Given the description of an element on the screen output the (x, y) to click on. 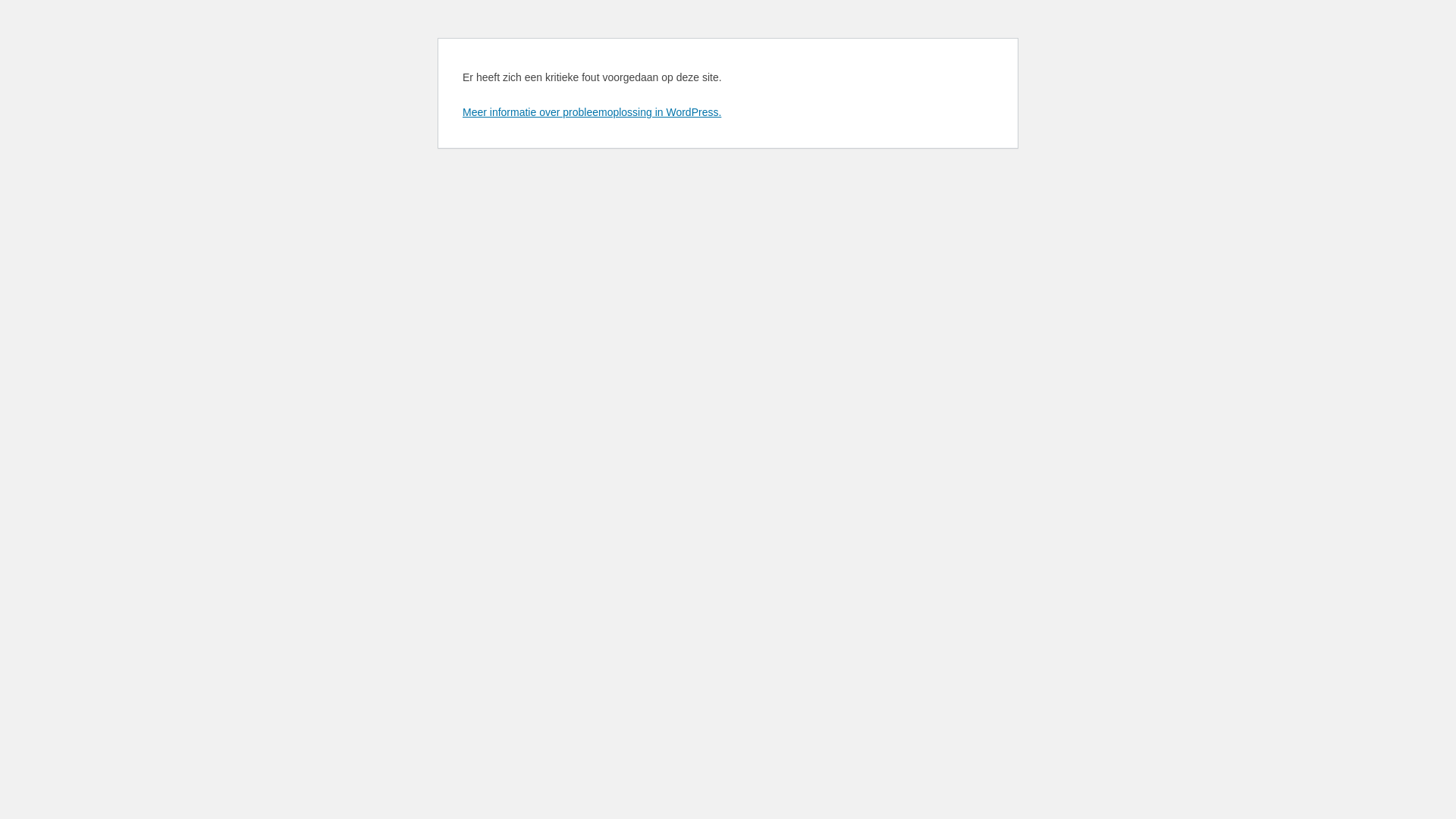
Meer informatie over probleemoplossing in WordPress. Element type: text (591, 112)
